Given the description of an element on the screen output the (x, y) to click on. 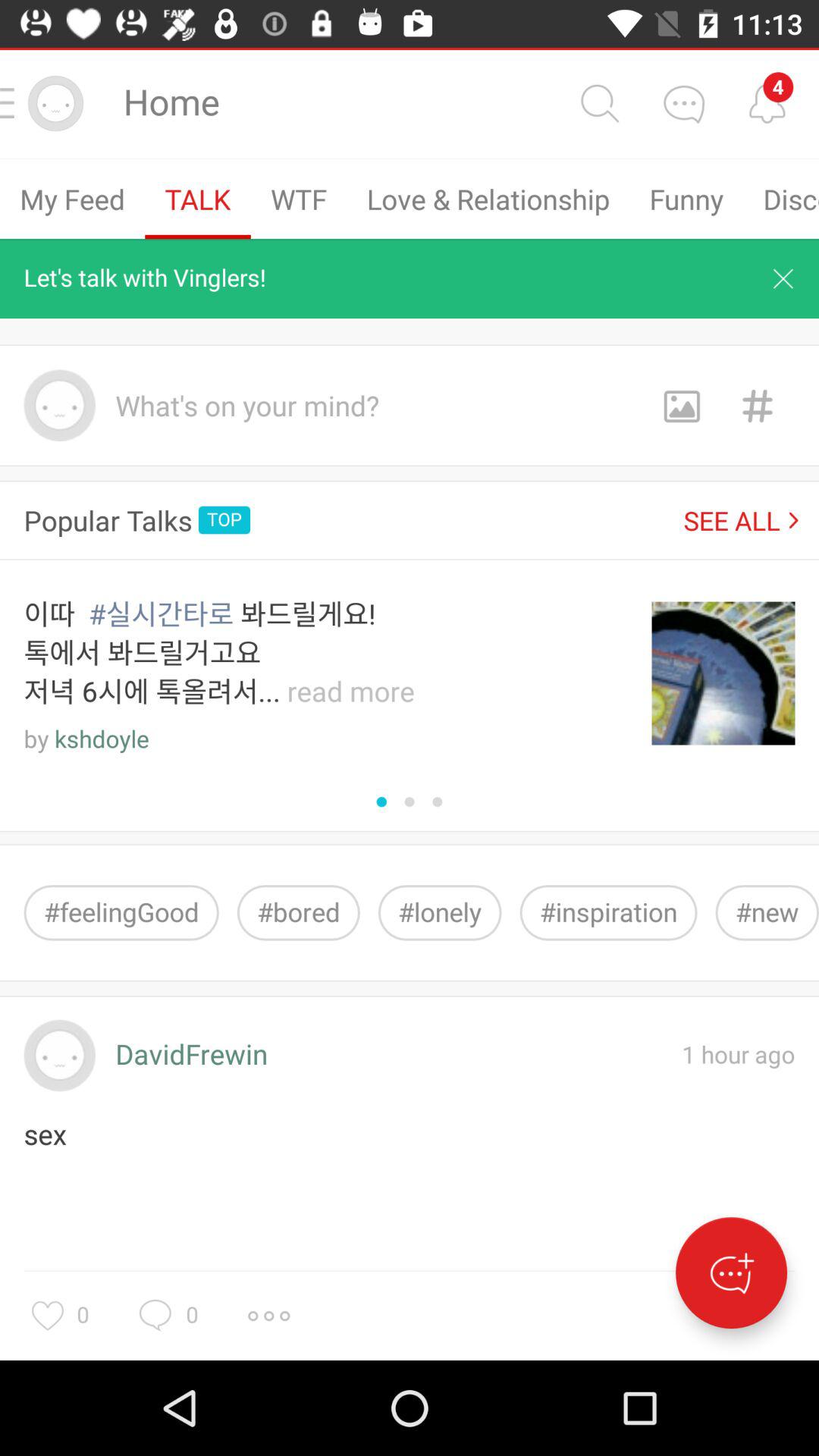
key word (757, 405)
